Given the description of an element on the screen output the (x, y) to click on. 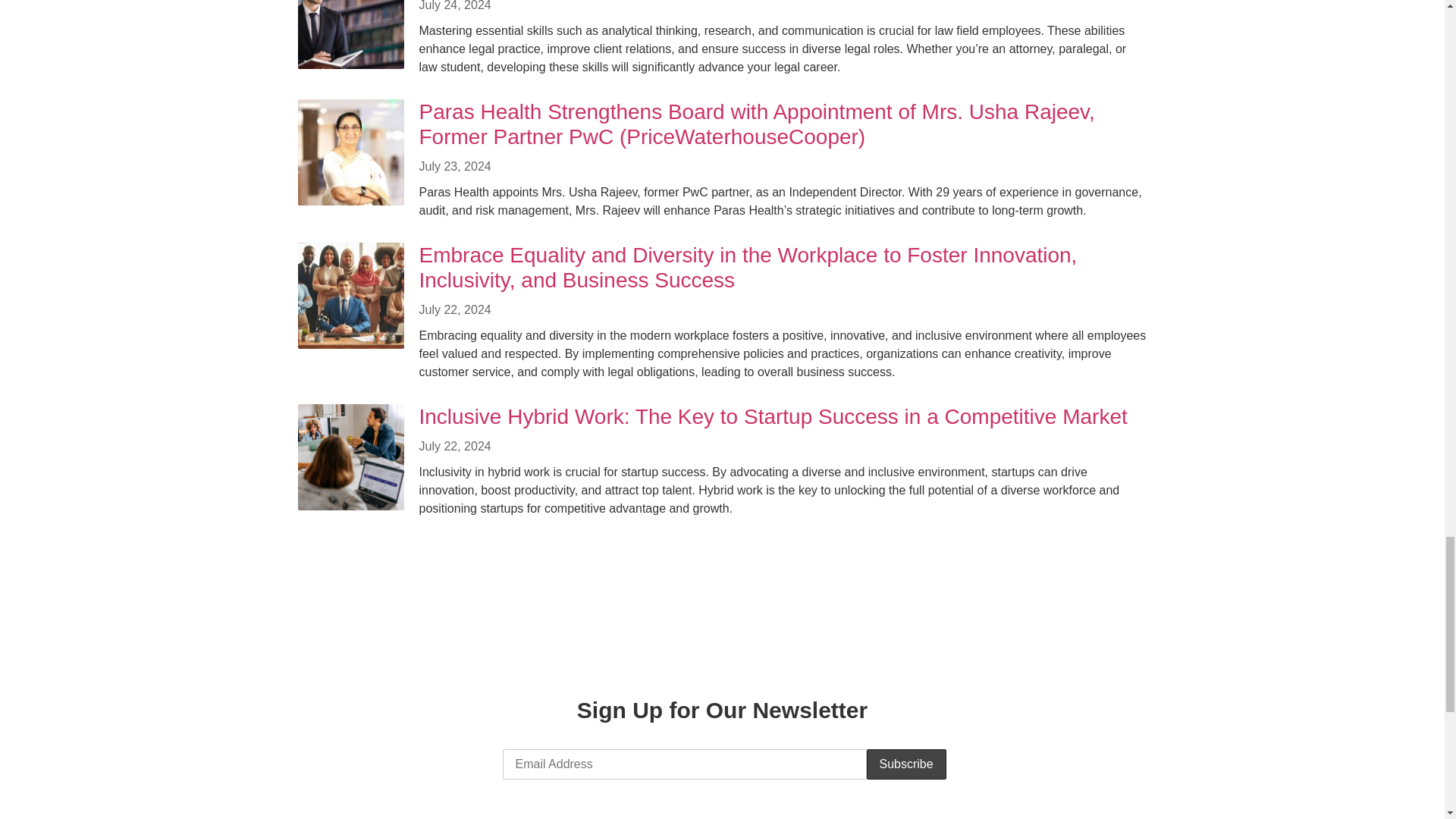
Subscribe (905, 764)
